Given the description of an element on the screen output the (x, y) to click on. 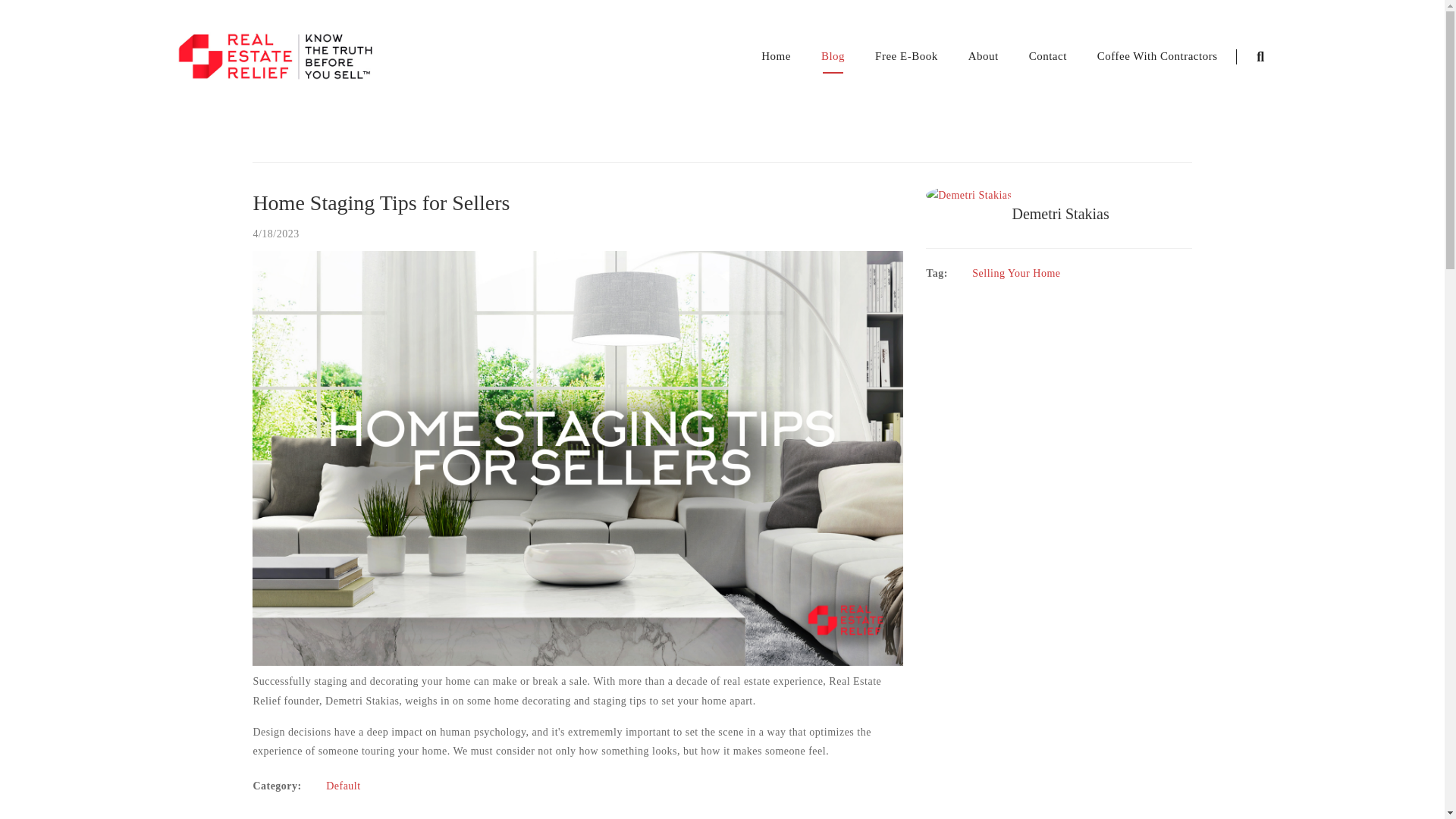
Selling Your Home (1015, 273)
Demetri Stakias (1058, 213)
Home (775, 55)
Home (775, 55)
Contact (1048, 55)
About (983, 55)
About (983, 55)
Real Estate Relief (275, 54)
Blog (832, 55)
Selling Your Home (1015, 273)
Blog (832, 55)
Default (342, 785)
Free E-Book (906, 55)
Default (342, 785)
